Given the description of an element on the screen output the (x, y) to click on. 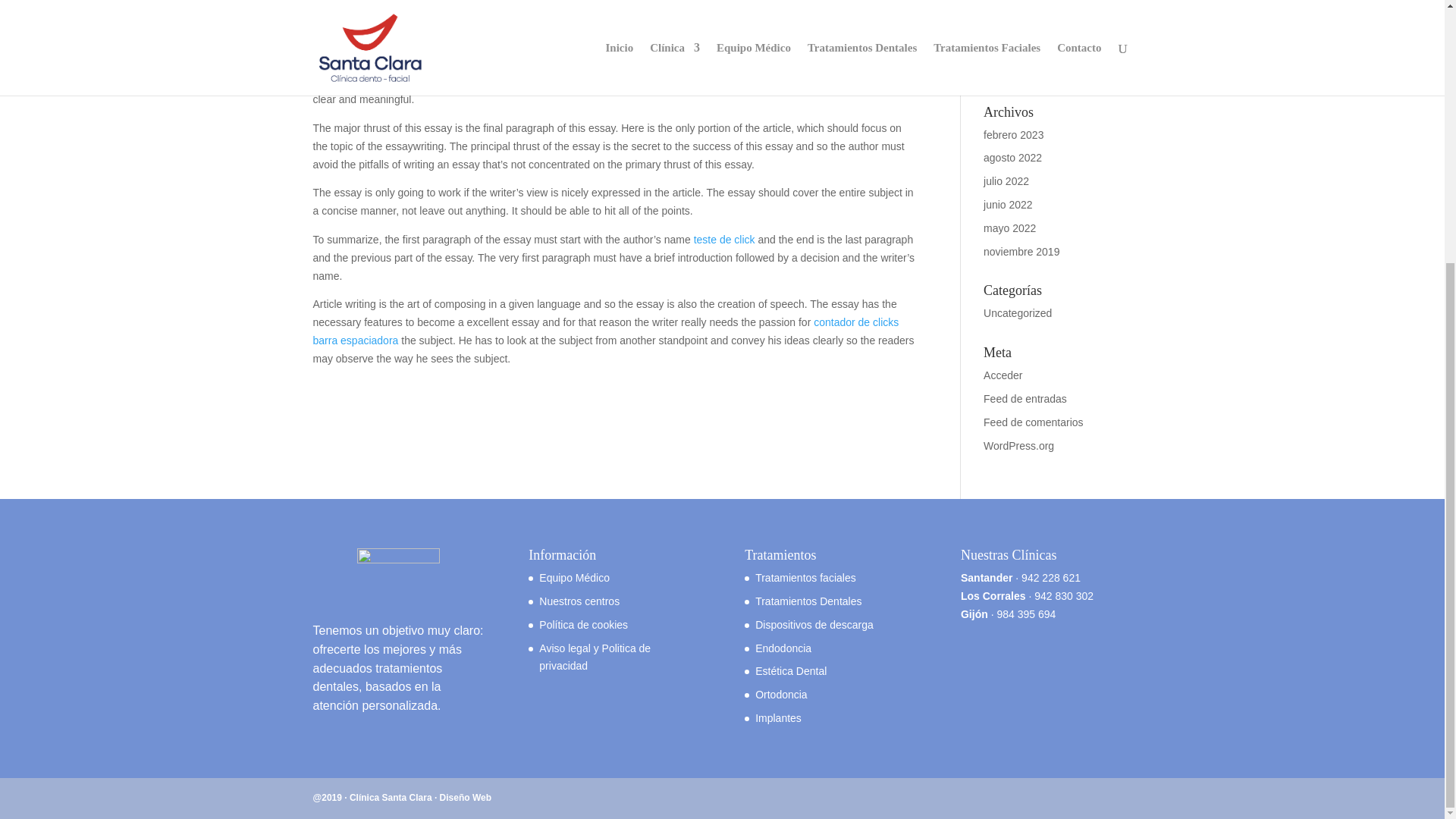
A WordPress Commenter (1043, 54)
Dispositivos de descarga (814, 624)
julio 2022 (1006, 181)
Feed de entradas (1025, 398)
noviembre 2019 (1021, 251)
contador de clicks barra espaciadora (605, 331)
febrero 2023 (1013, 134)
agosto 2022 (1013, 157)
Hello world! (1011, 72)
Endodoncia (782, 648)
Aviso legal y Politica de privacidad (594, 657)
junio 2022 (1008, 204)
Nuestros centros (579, 601)
Feed de comentarios (1033, 422)
mayo 2022 (1009, 227)
